Given the description of an element on the screen output the (x, y) to click on. 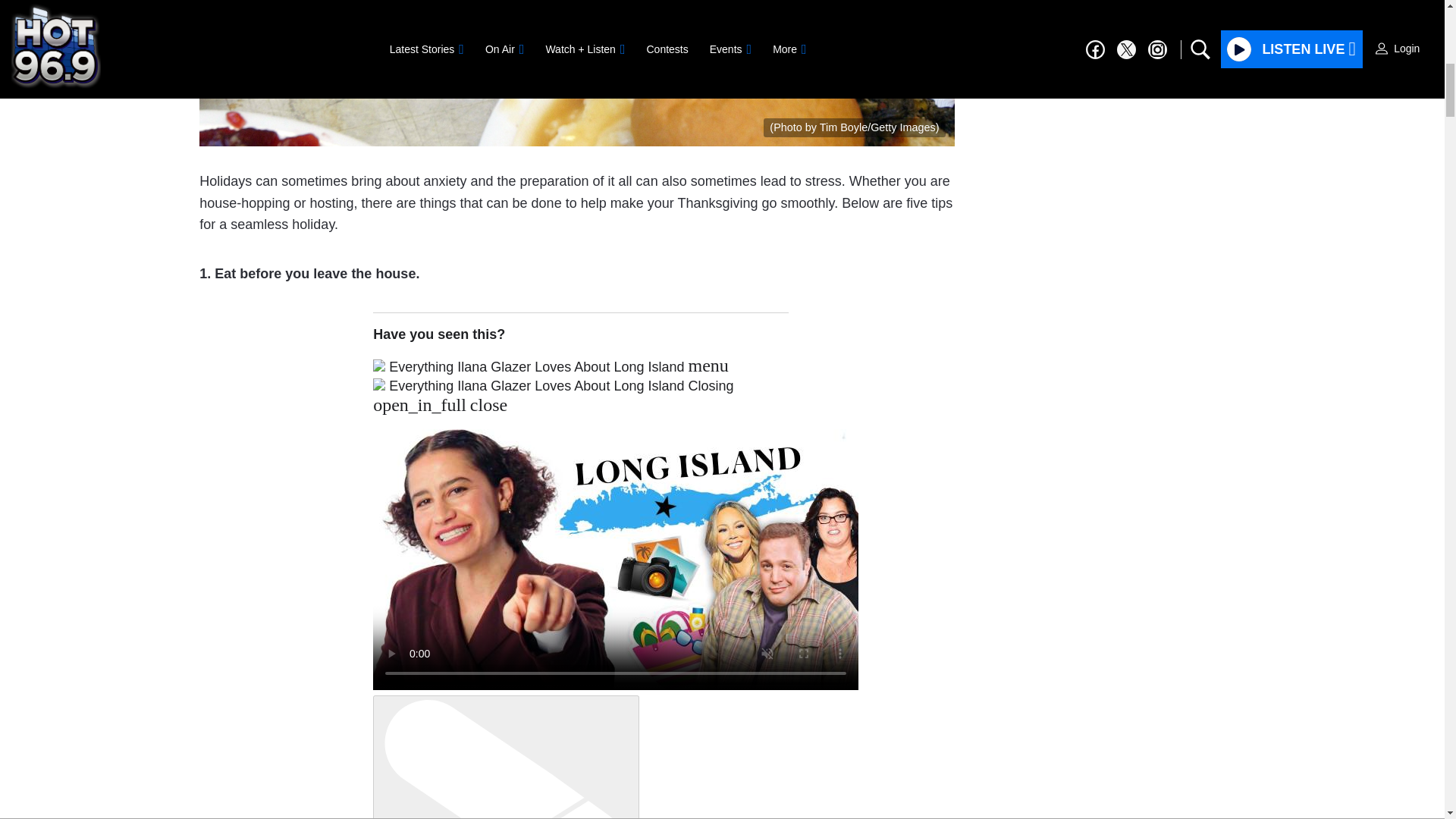
Close AdCheckmark indicating ad close (1434, 11)
